Given the description of an element on the screen output the (x, y) to click on. 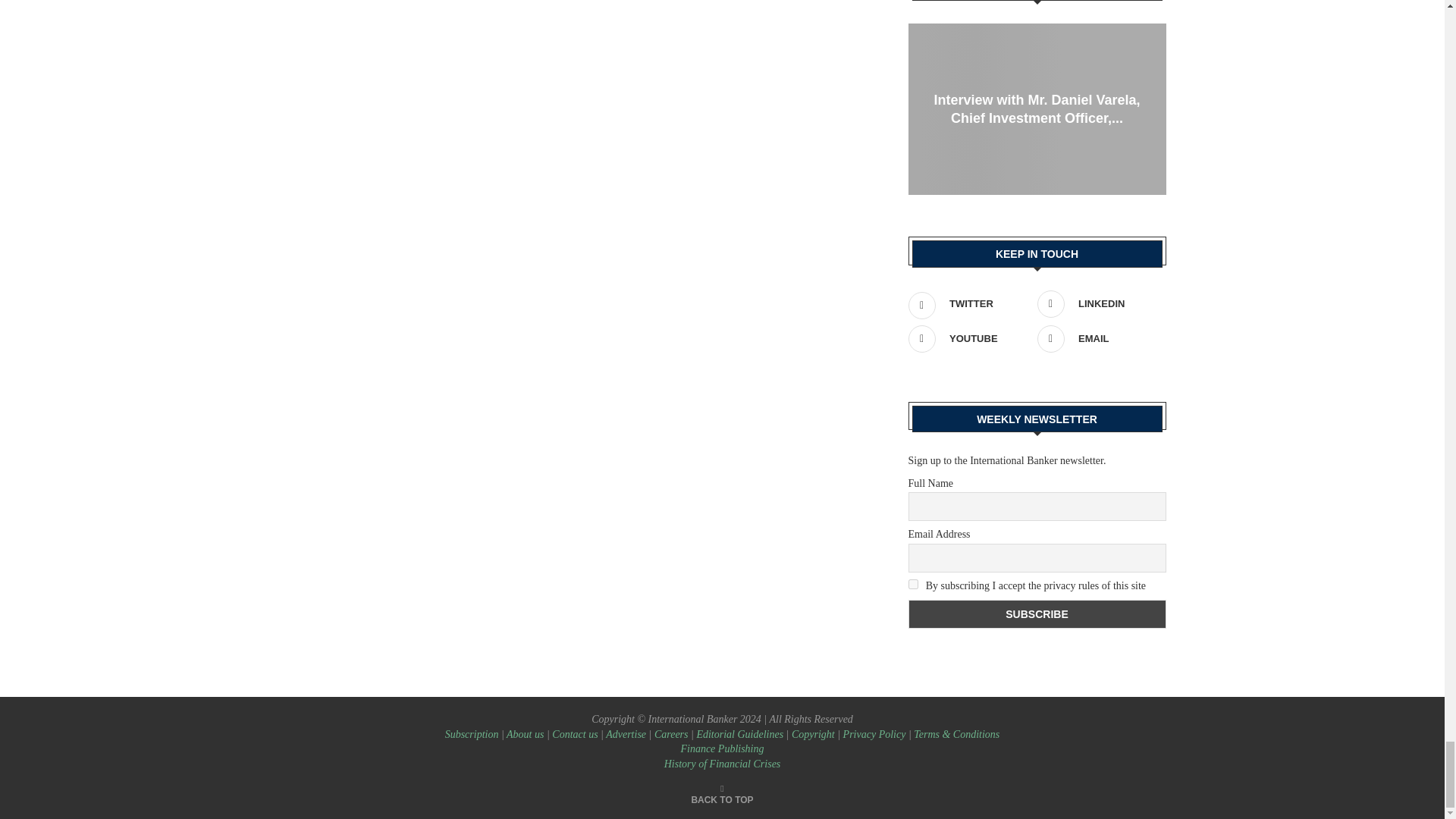
Subscribe (1037, 613)
on (913, 583)
